Given the description of an element on the screen output the (x, y) to click on. 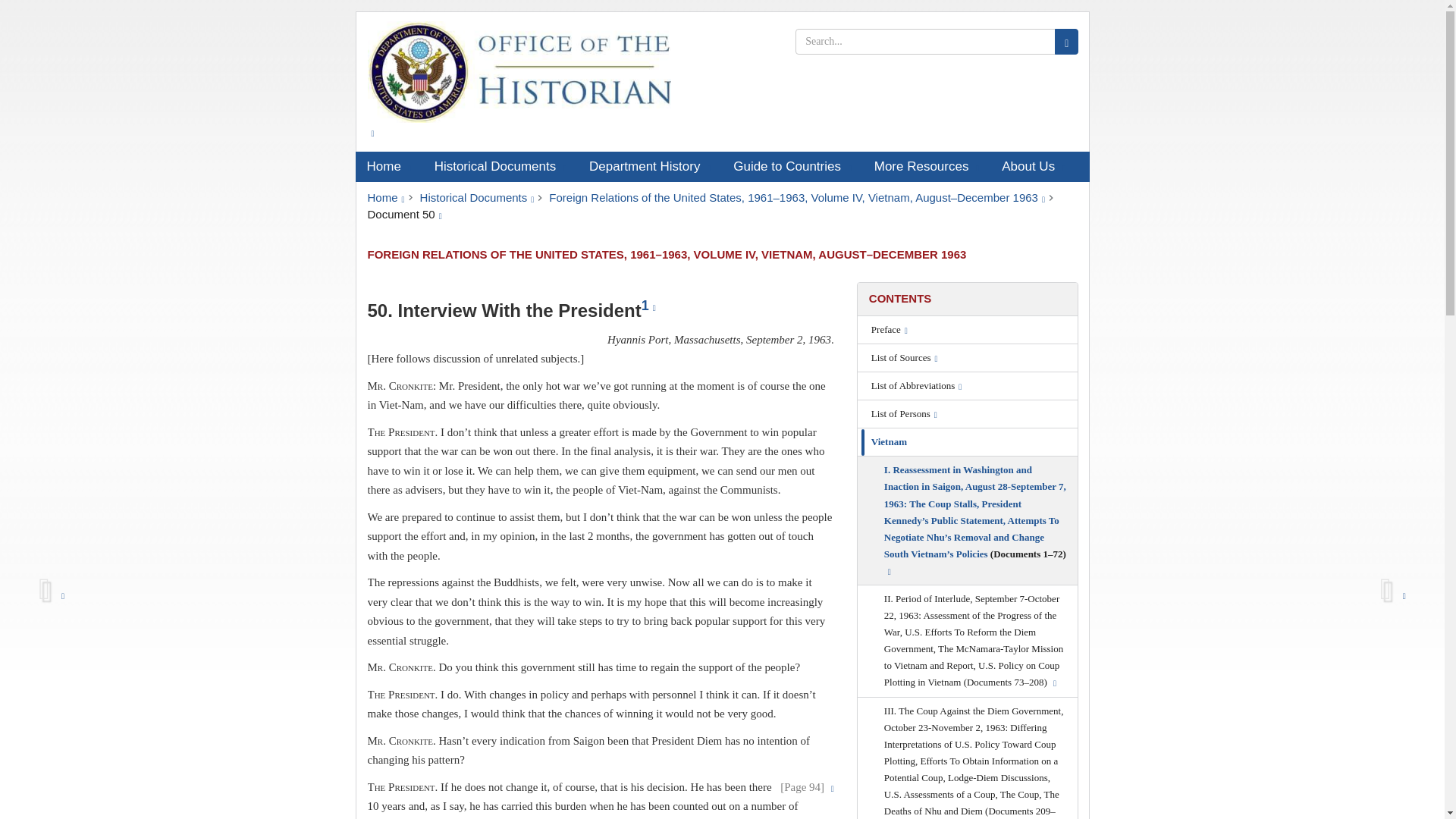
Guide to Countries (792, 166)
Department History (650, 166)
Home (388, 166)
Historical Documents (500, 166)
More Resources (926, 166)
Home (385, 196)
Document 50 (403, 214)
Historical Documents (477, 196)
About Us (1033, 166)
